Given the description of an element on the screen output the (x, y) to click on. 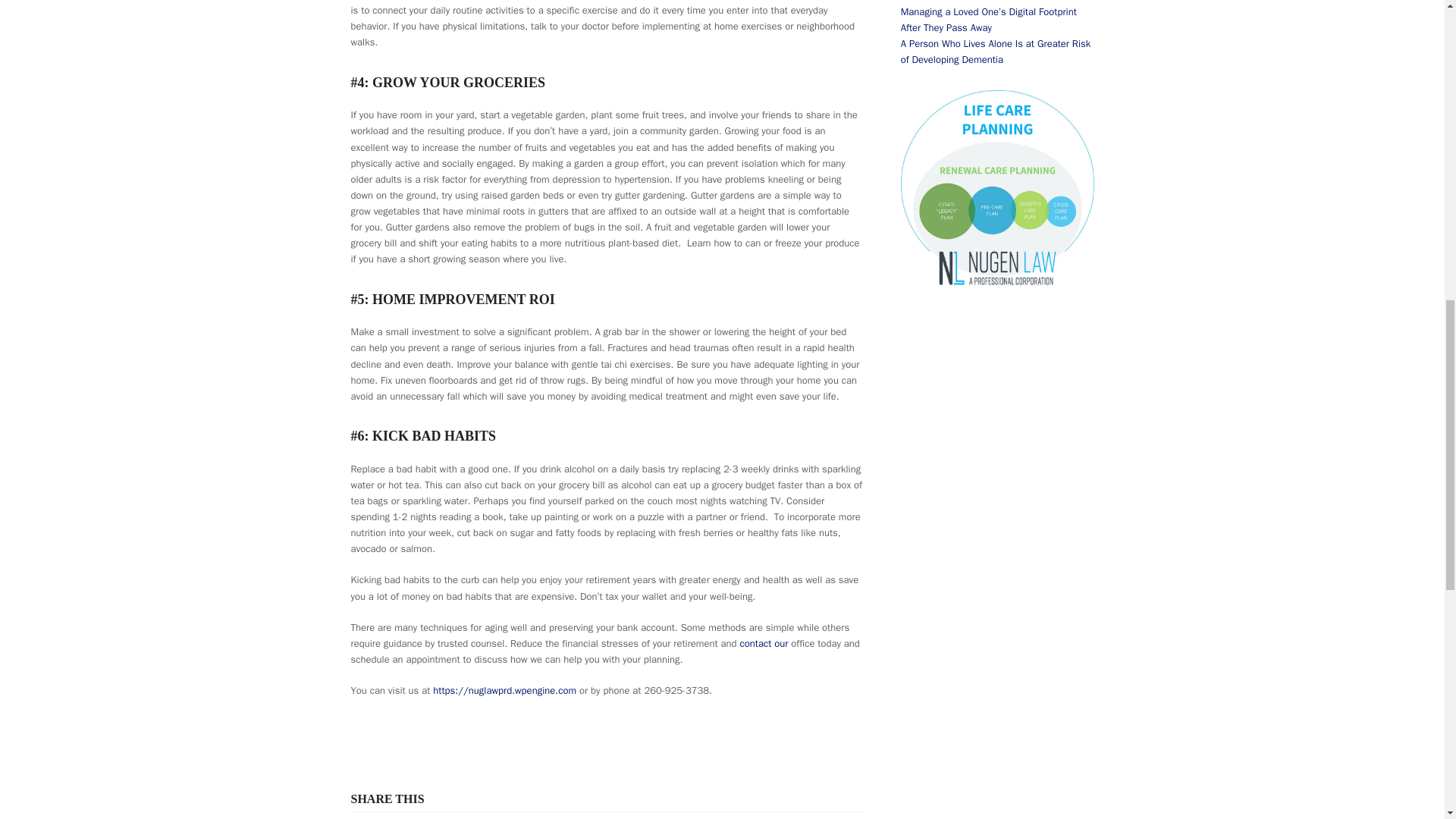
contact our (763, 643)
